Given the description of an element on the screen output the (x, y) to click on. 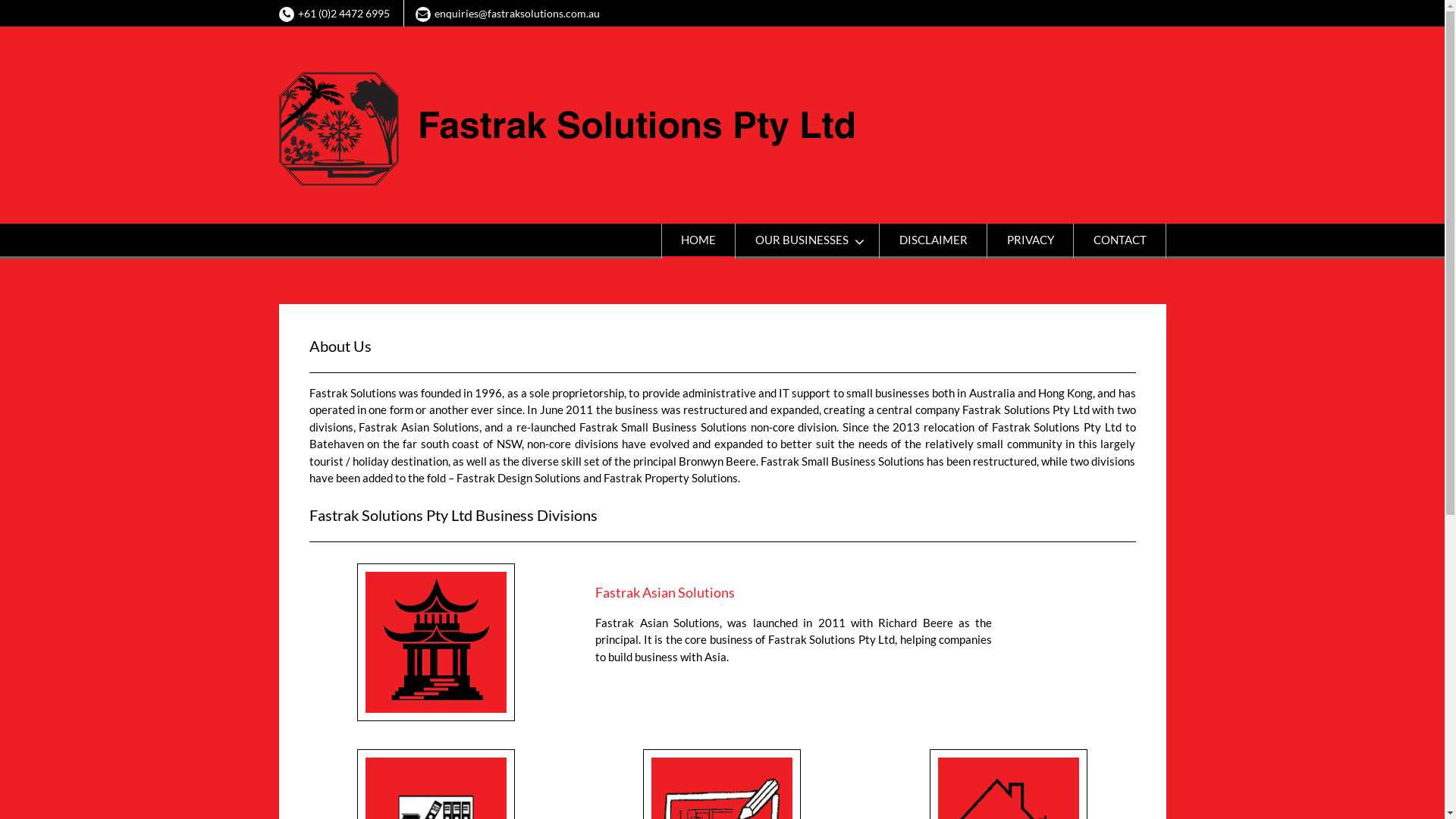
Fastrak Asian Solutions Element type: text (664, 591)
PRIVACY Element type: text (1029, 240)
Skip to content Element type: text (0, 0)
DISCLAIMER Element type: text (932, 240)
HOME Element type: text (697, 240)
CONTACT Element type: text (1118, 240)
OUR BUSINESSES Element type: text (806, 240)
+61 (0)2 4472 6995 Element type: text (343, 13)
enquiries@fastraksolutions.com.au Element type: text (516, 13)
